Given the description of an element on the screen output the (x, y) to click on. 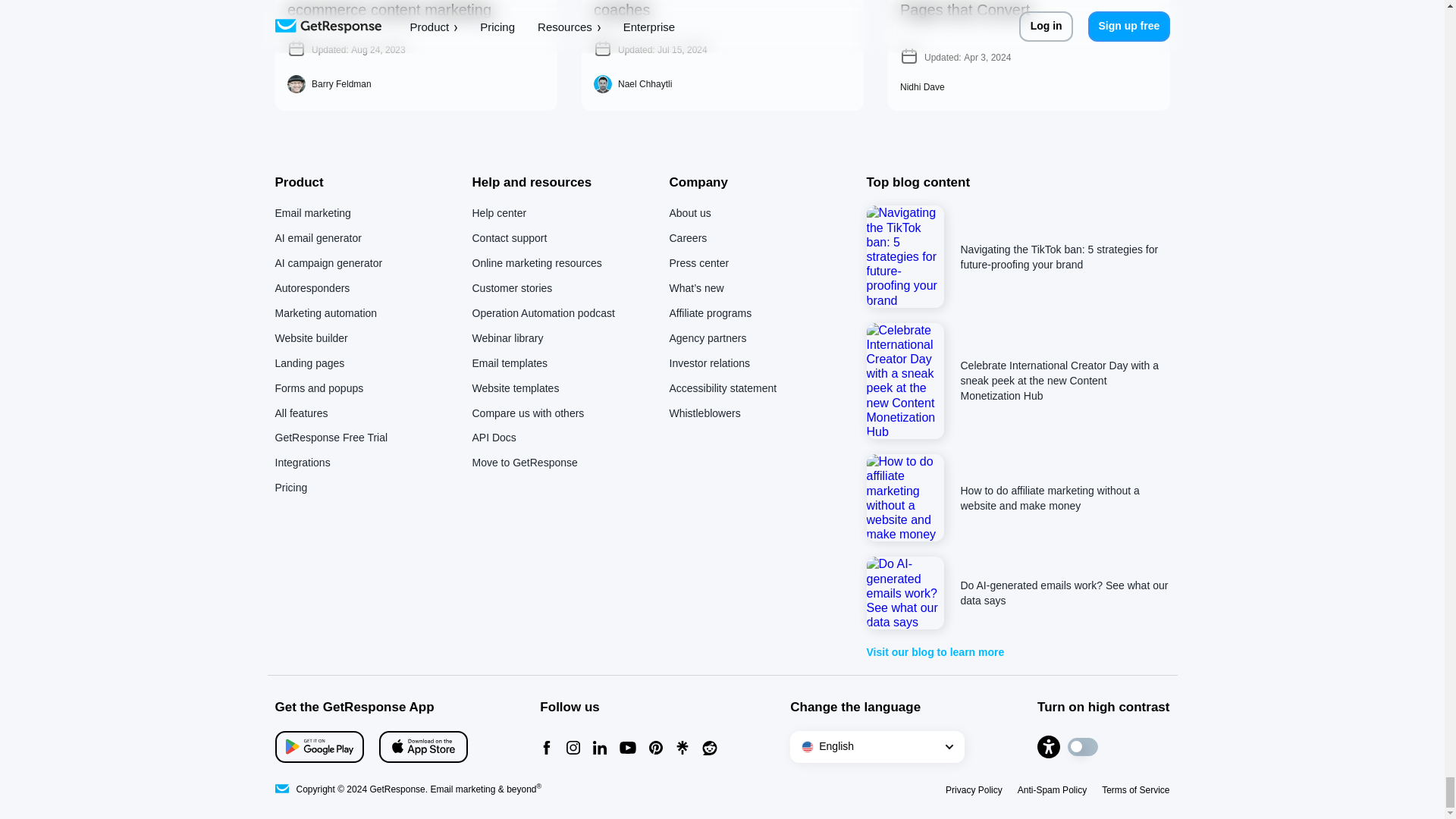
Language (876, 746)
Turn on high contrast (1102, 746)
 Email Marketing Software by GetResponse (281, 788)
